Given the description of an element on the screen output the (x, y) to click on. 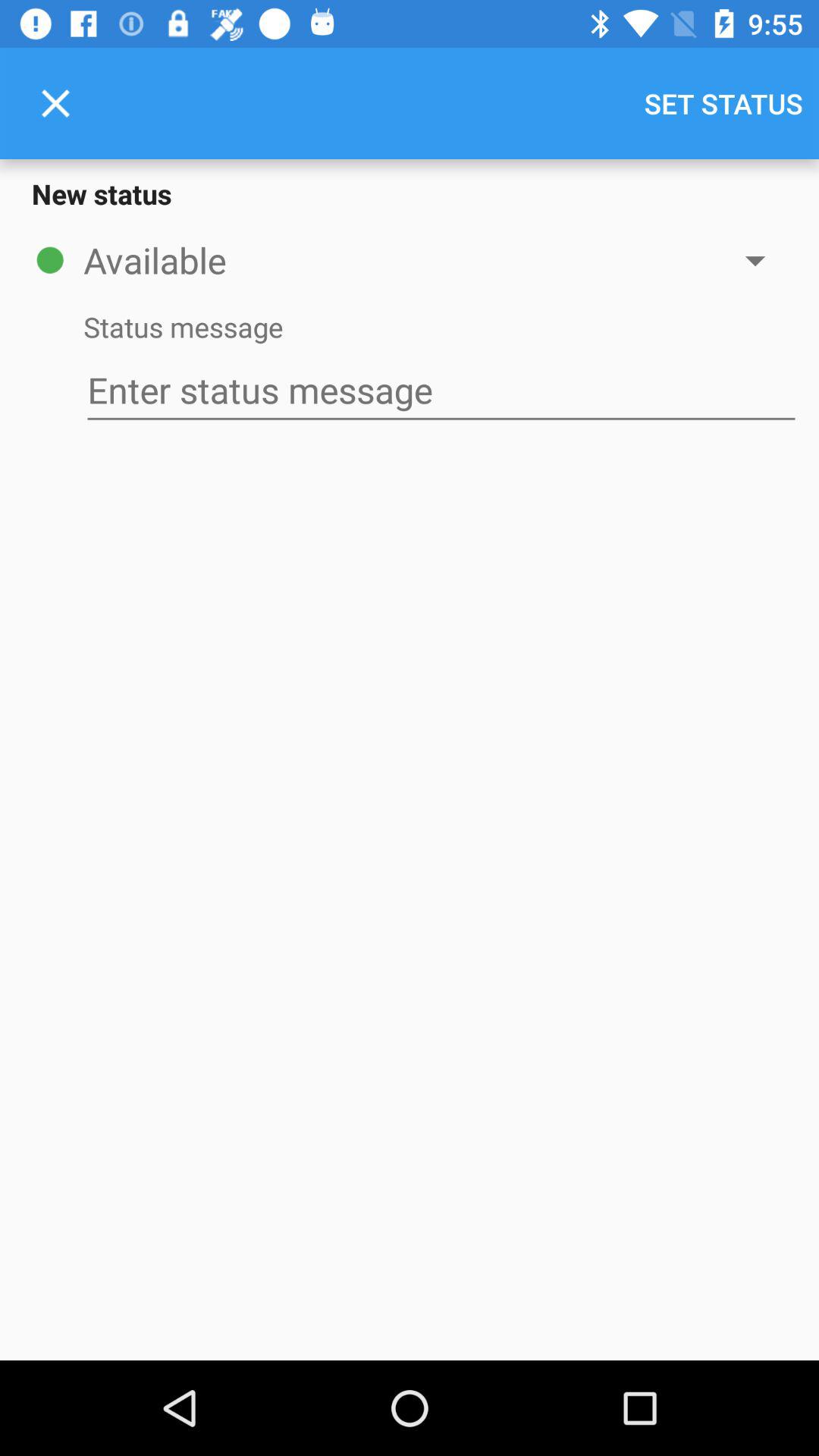
jump to the set status icon (723, 103)
